Given the description of an element on the screen output the (x, y) to click on. 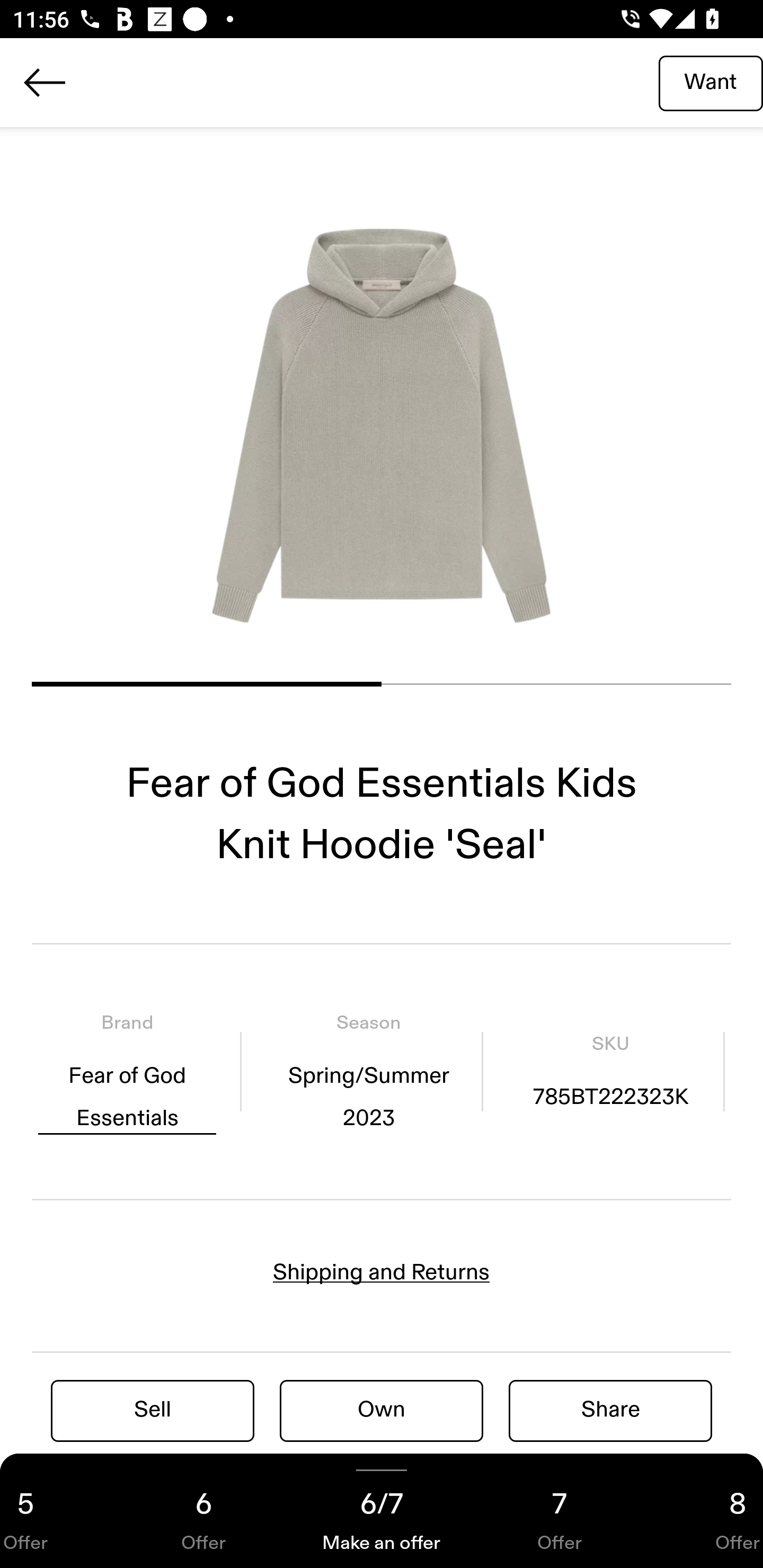
Want (710, 82)
Brand Fear of God Essentials (126, 1070)
Season Spring/Summer 2023 (368, 1070)
SKU 785BT222323K (609, 1070)
Shipping and Returns (381, 1272)
Sell (152, 1410)
Own (381, 1410)
Share (609, 1410)
5 Offer (57, 1510)
6 Offer (203, 1510)
6/7 Make an offer (381, 1510)
7 Offer (559, 1510)
8 Offer (705, 1510)
